Given the description of an element on the screen output the (x, y) to click on. 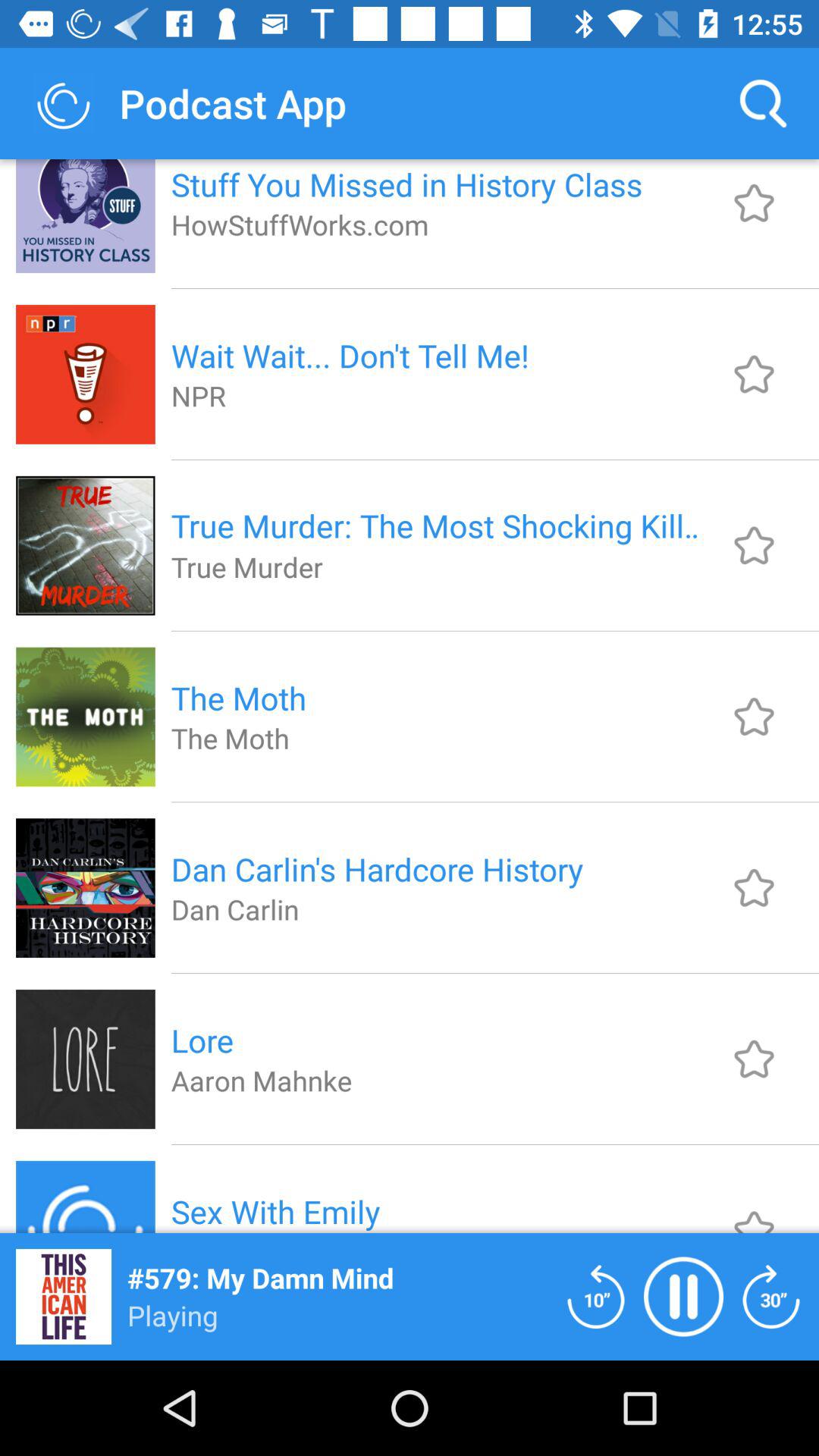
skip 30 seconds ahead the podcast (771, 1296)
